Given the description of an element on the screen output the (x, y) to click on. 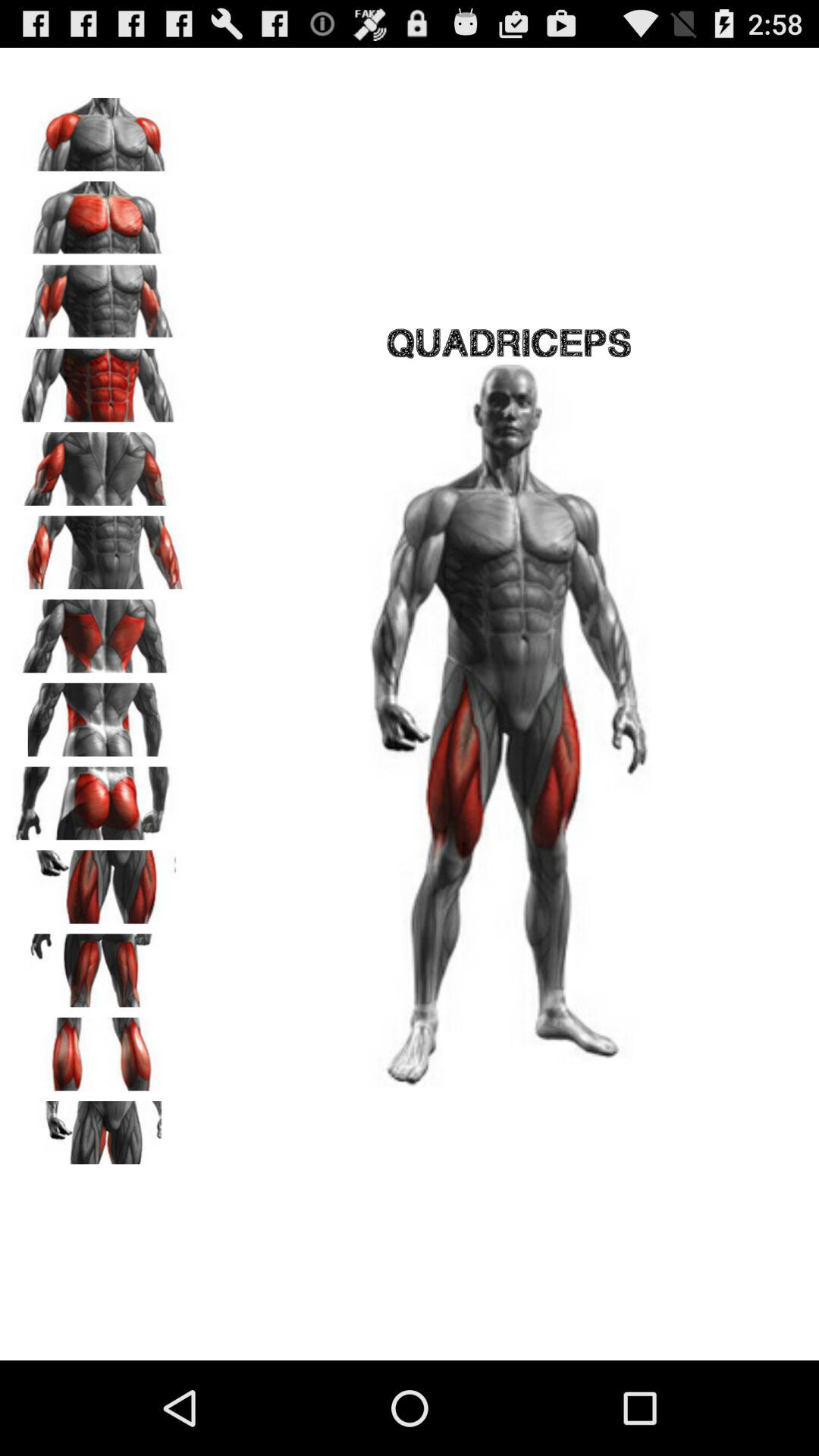
pick body part (99, 547)
